Given the description of an element on the screen output the (x, y) to click on. 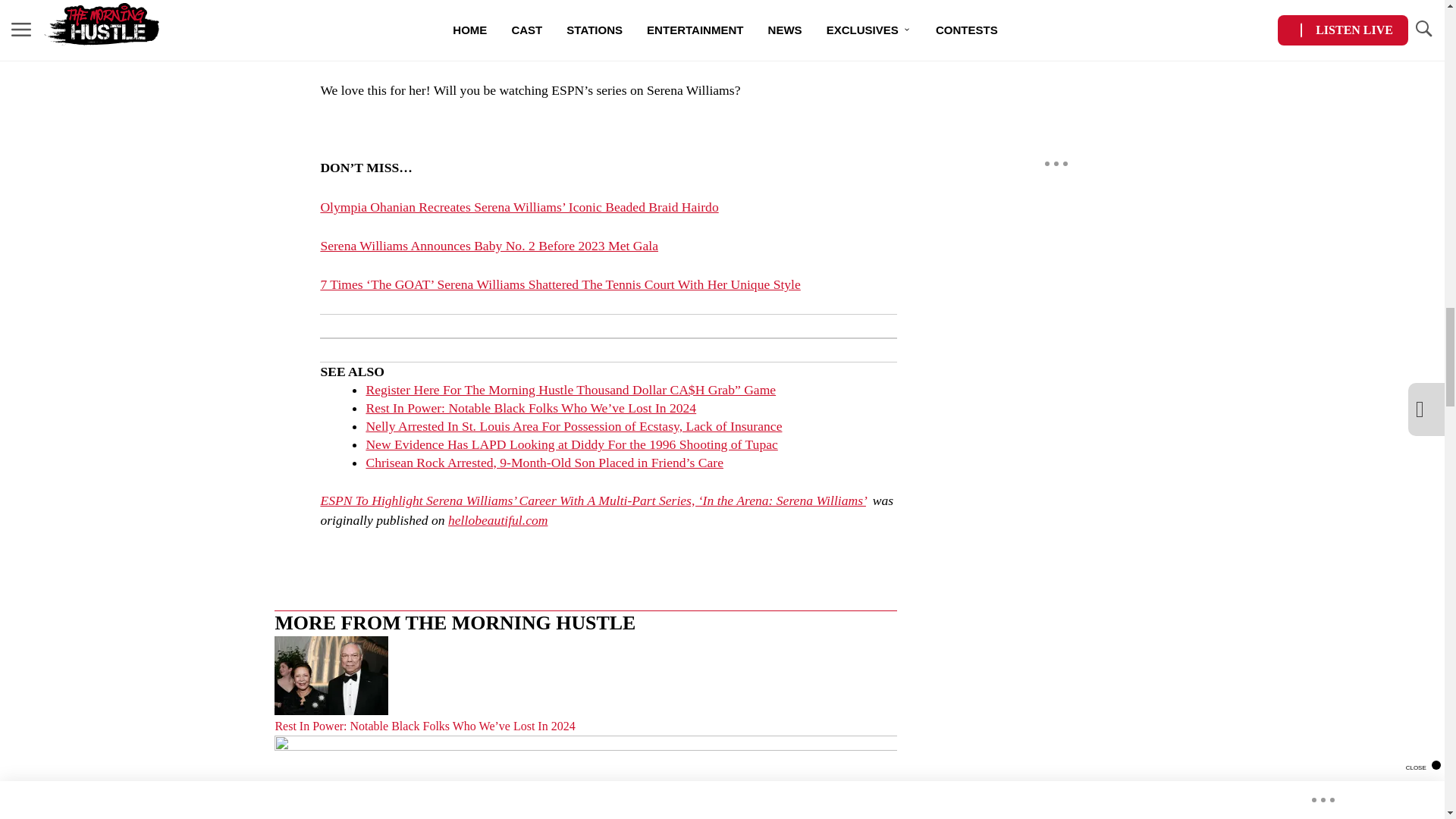
hellobeautiful.com (497, 519)
Serena Williams Announces Baby No. 2 Before 2023 Met Gala (489, 245)
